Given the description of an element on the screen output the (x, y) to click on. 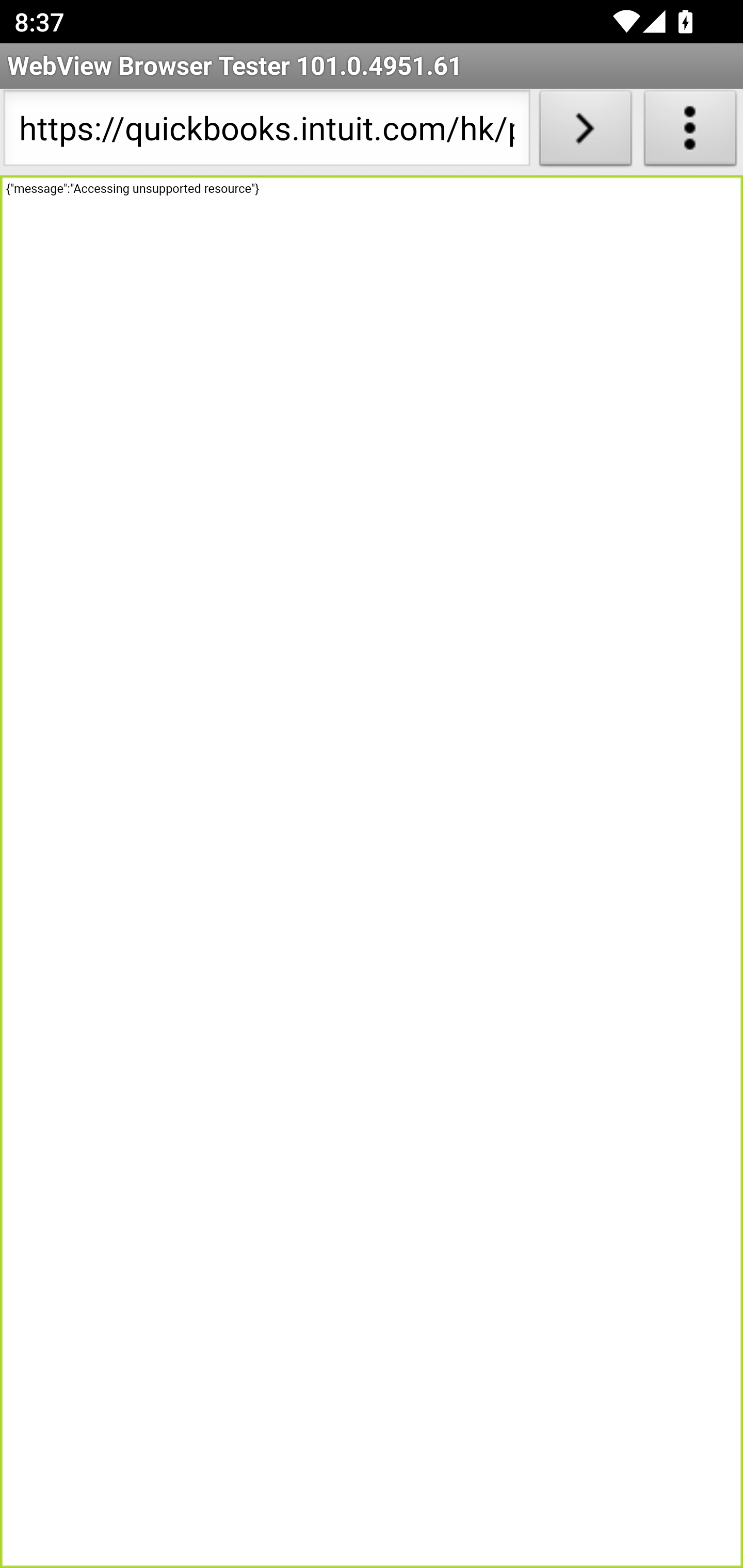
Load URL (585, 132)
About WebView (690, 132)
